Given the description of an element on the screen output the (x, y) to click on. 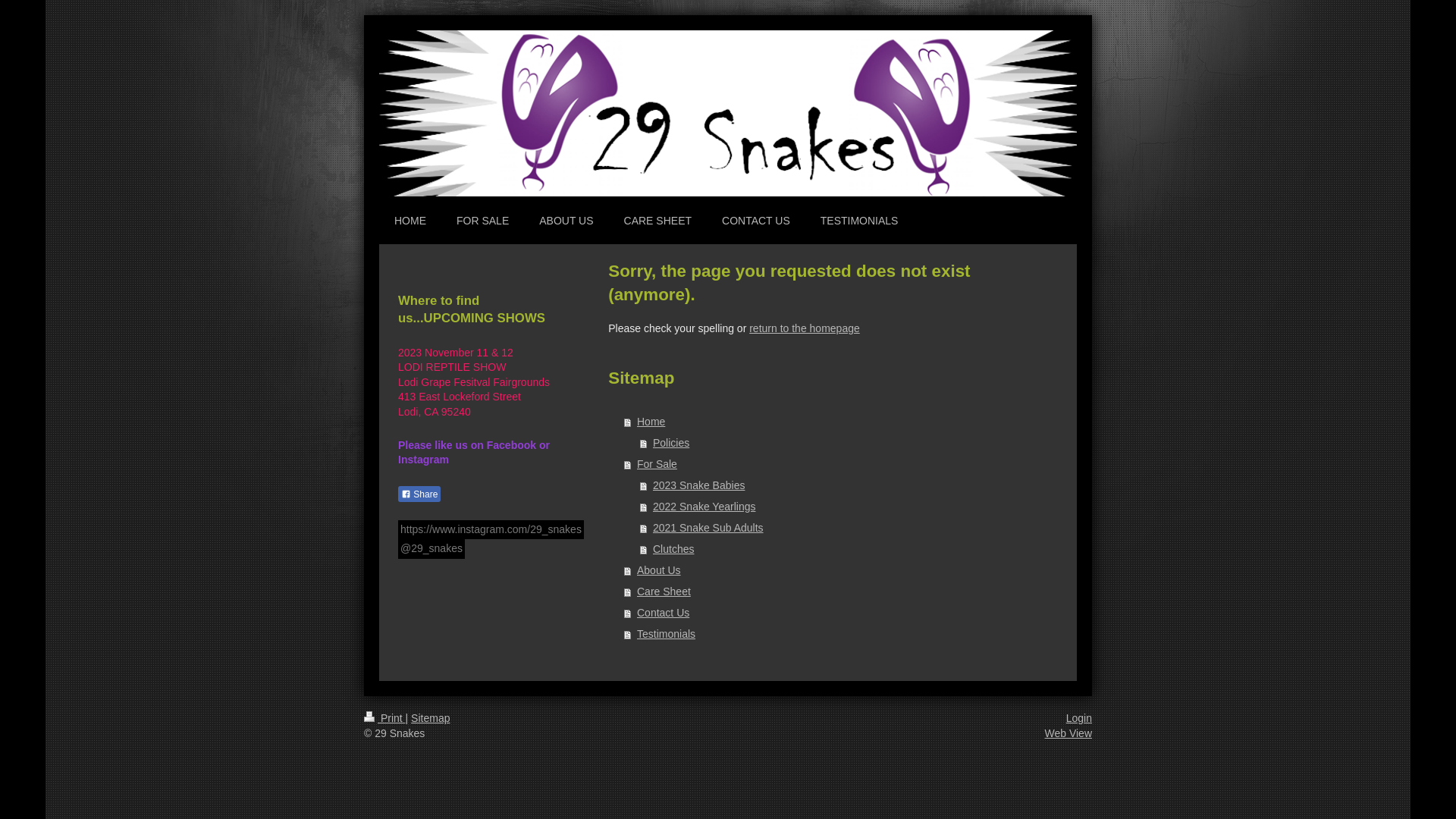
@29_snakes Element type: text (431, 548)
Home Element type: text (835, 421)
About Us Element type: text (835, 569)
CARE SHEET Element type: text (657, 220)
For Sale Element type: text (835, 463)
2021 Snake Sub Adults Element type: text (843, 527)
2022 Snake Yearlings Element type: text (843, 506)
Care Sheet Element type: text (835, 591)
return to the homepage Element type: text (804, 328)
https://www.instagram.com/29_snakes Element type: text (490, 529)
CONTACT US Element type: text (755, 220)
ABOUT US Element type: text (566, 220)
2023 Snake Babies Element type: text (843, 484)
FOR SALE Element type: text (482, 220)
HOME Element type: text (410, 220)
Sitemap Element type: text (430, 718)
Policies Element type: text (843, 442)
Contact Us Element type: text (835, 612)
Web View Element type: text (1068, 733)
Share Element type: text (419, 494)
Login Element type: text (1079, 718)
Print Element type: text (384, 718)
Clutches Element type: text (843, 548)
Testimonials Element type: text (835, 633)
TESTIMONIALS Element type: text (859, 220)
